Given the description of an element on the screen output the (x, y) to click on. 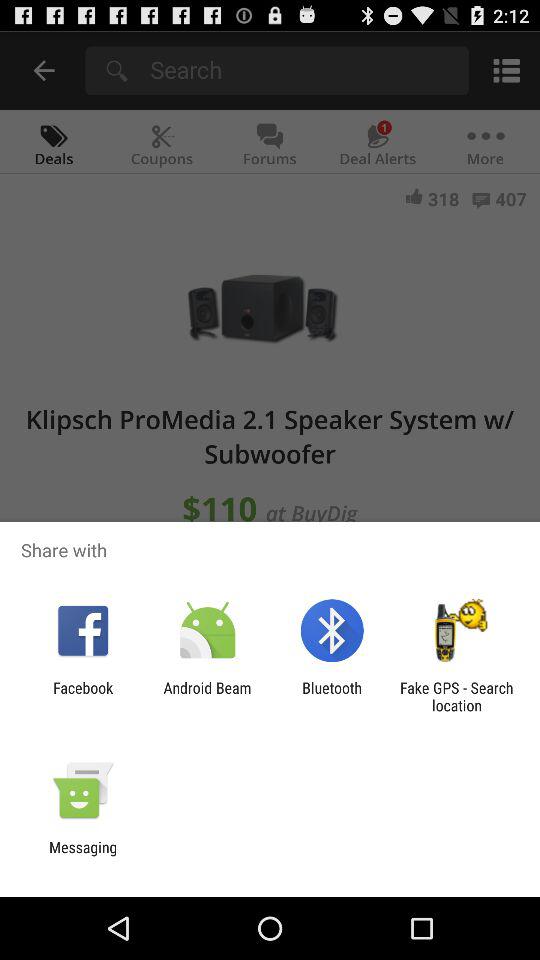
press the android beam icon (207, 696)
